Given the description of an element on the screen output the (x, y) to click on. 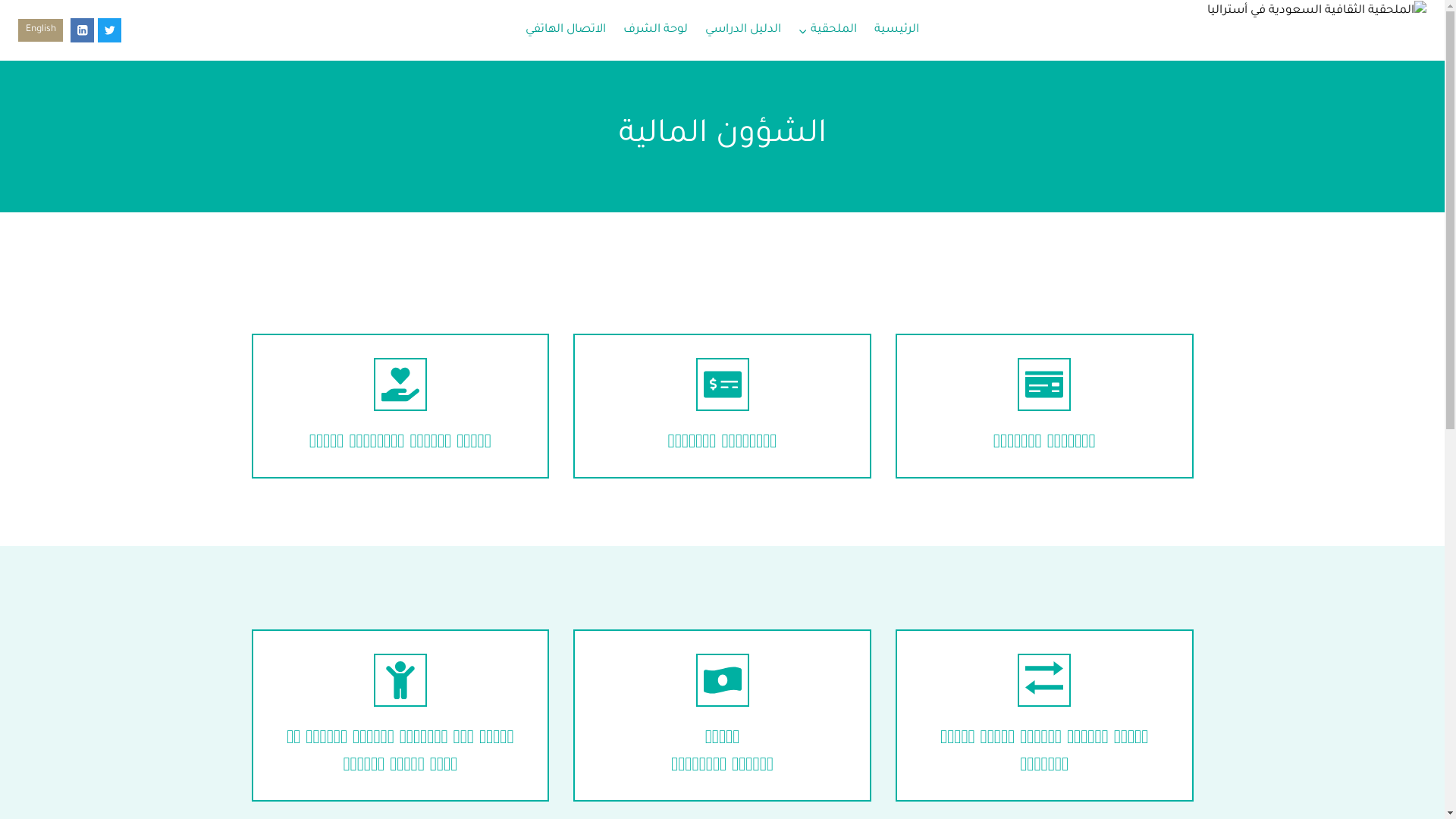
English Element type: text (40, 29)
